Given the description of an element on the screen output the (x, y) to click on. 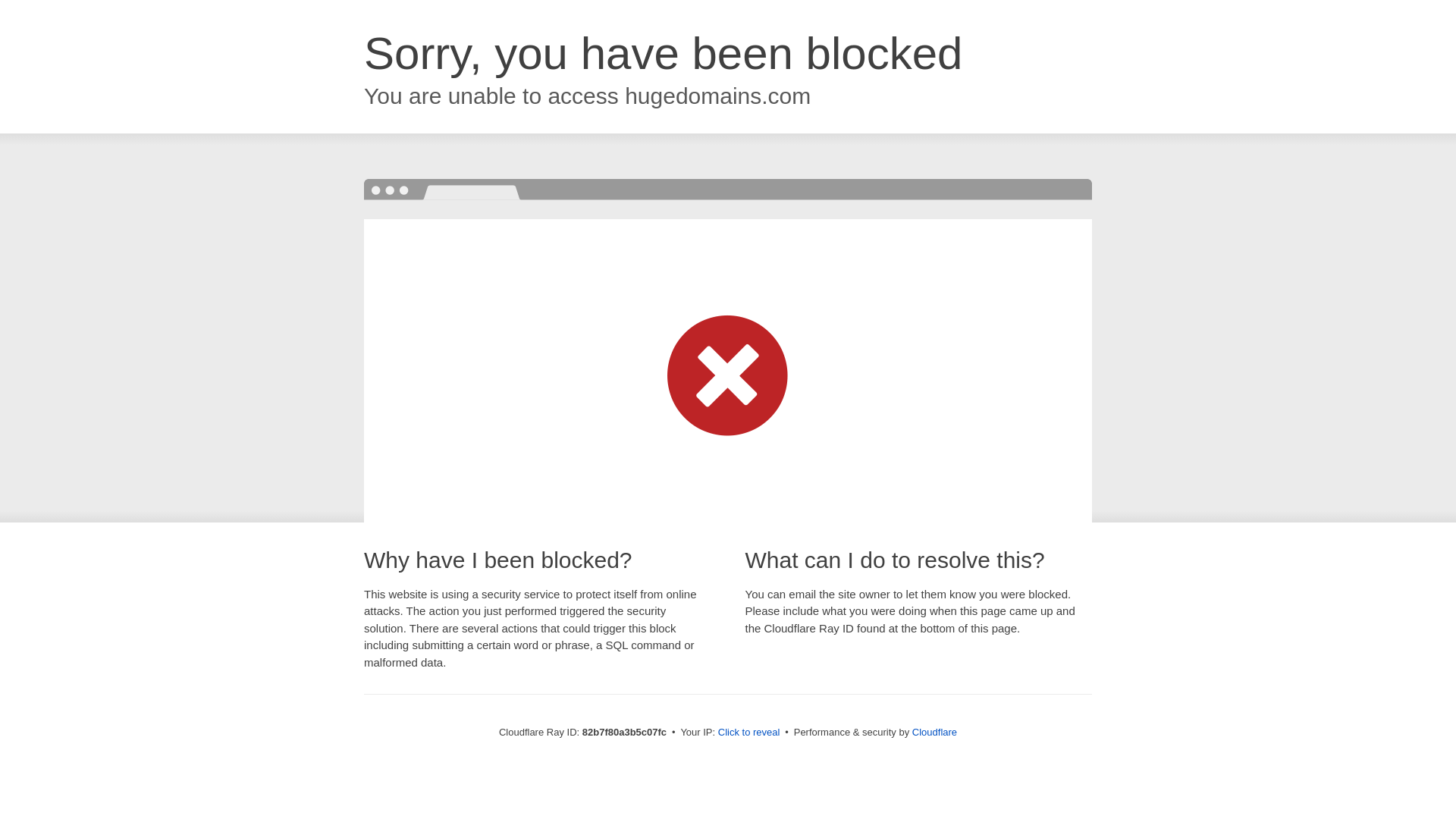
Cloudflare Element type: text (934, 731)
Click to reveal Element type: text (749, 732)
